Given the description of an element on the screen output the (x, y) to click on. 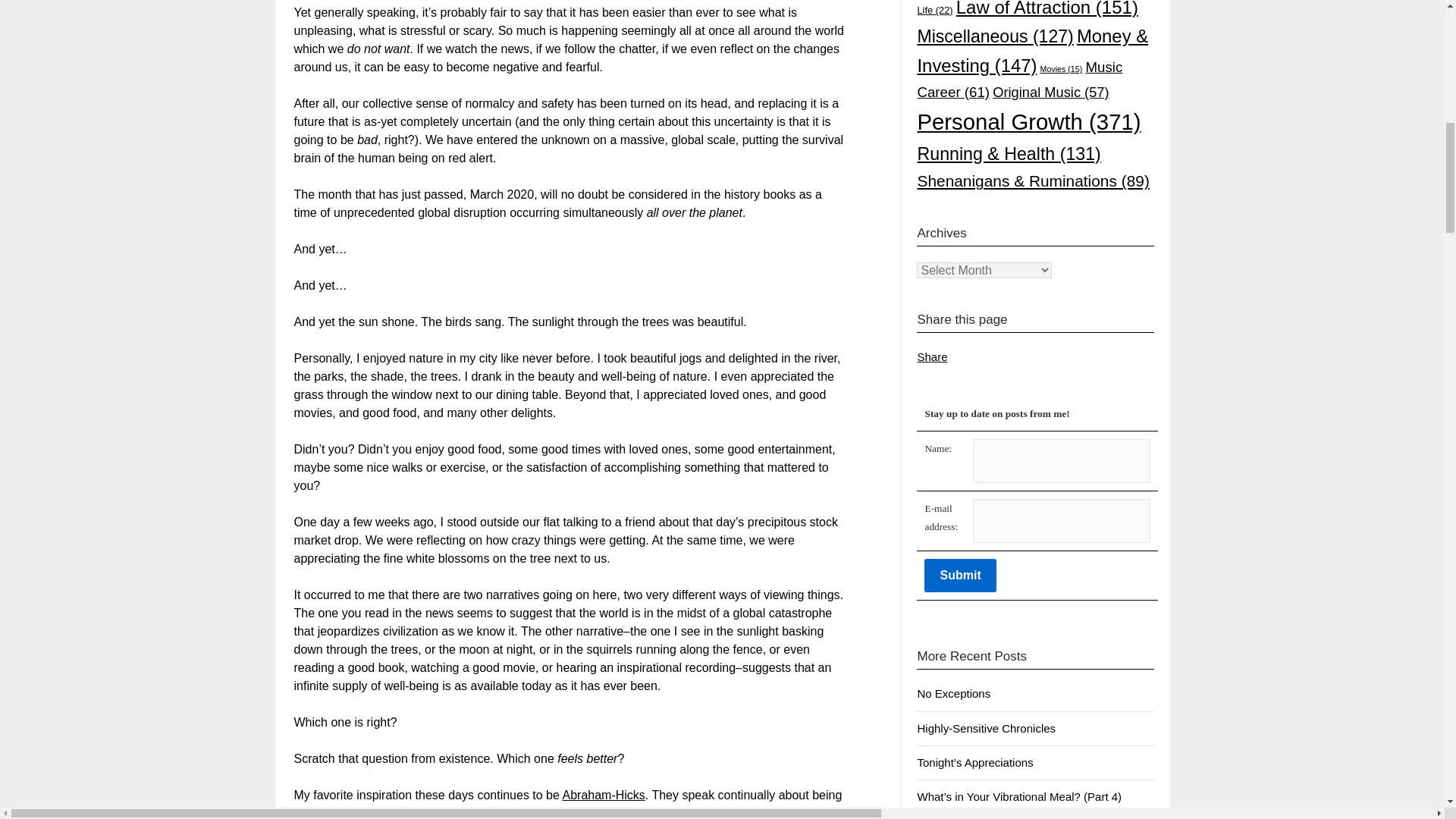
Submit (959, 575)
Share (932, 356)
Abraham-Hicks (603, 794)
